Given the description of an element on the screen output the (x, y) to click on. 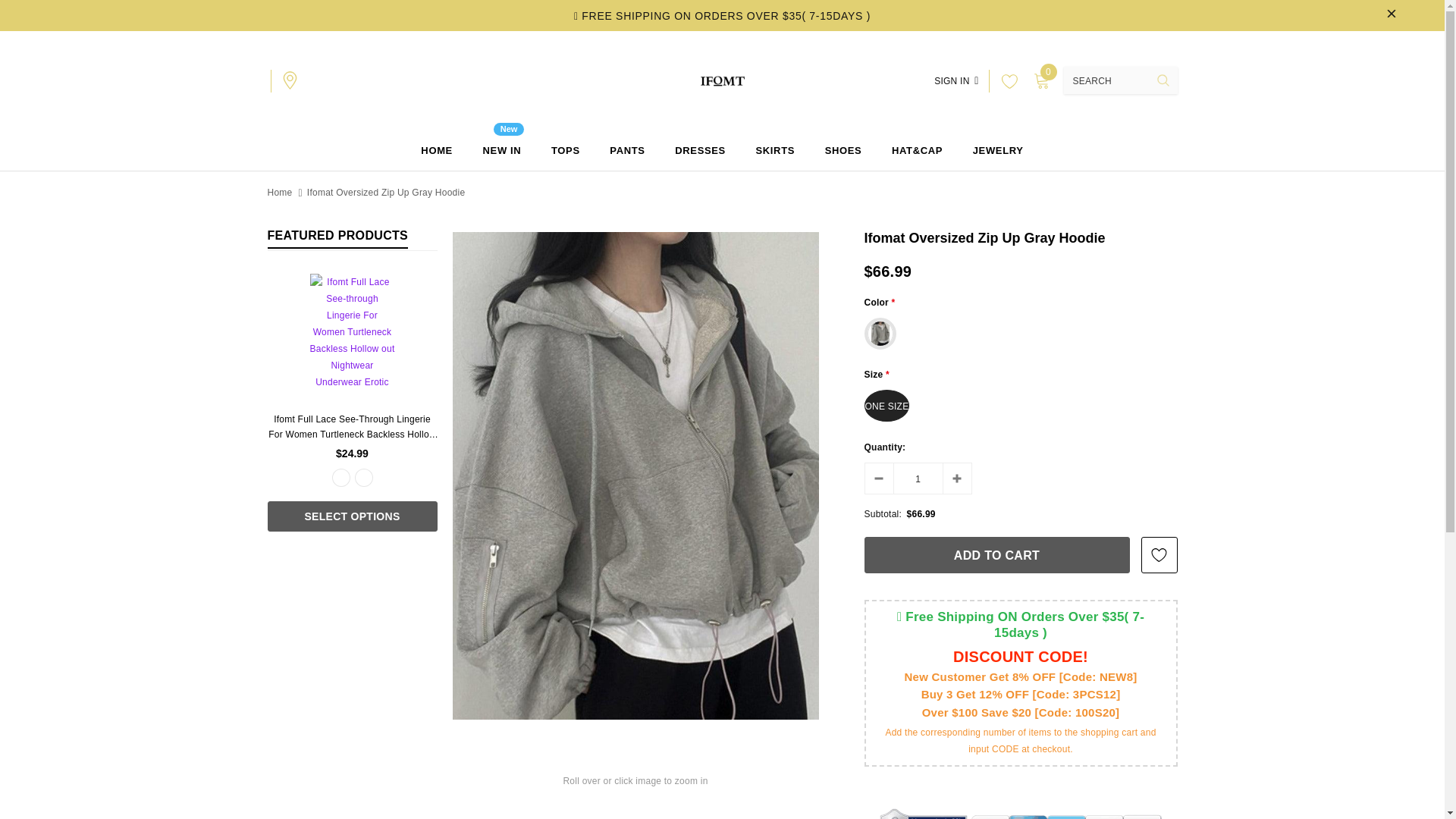
Logo (721, 80)
close (1391, 15)
SIGN IN (956, 80)
1 (917, 478)
My Wishlists (1005, 81)
Select Options (351, 516)
Add to Cart (996, 555)
0 (1040, 80)
